Given the description of an element on the screen output the (x, y) to click on. 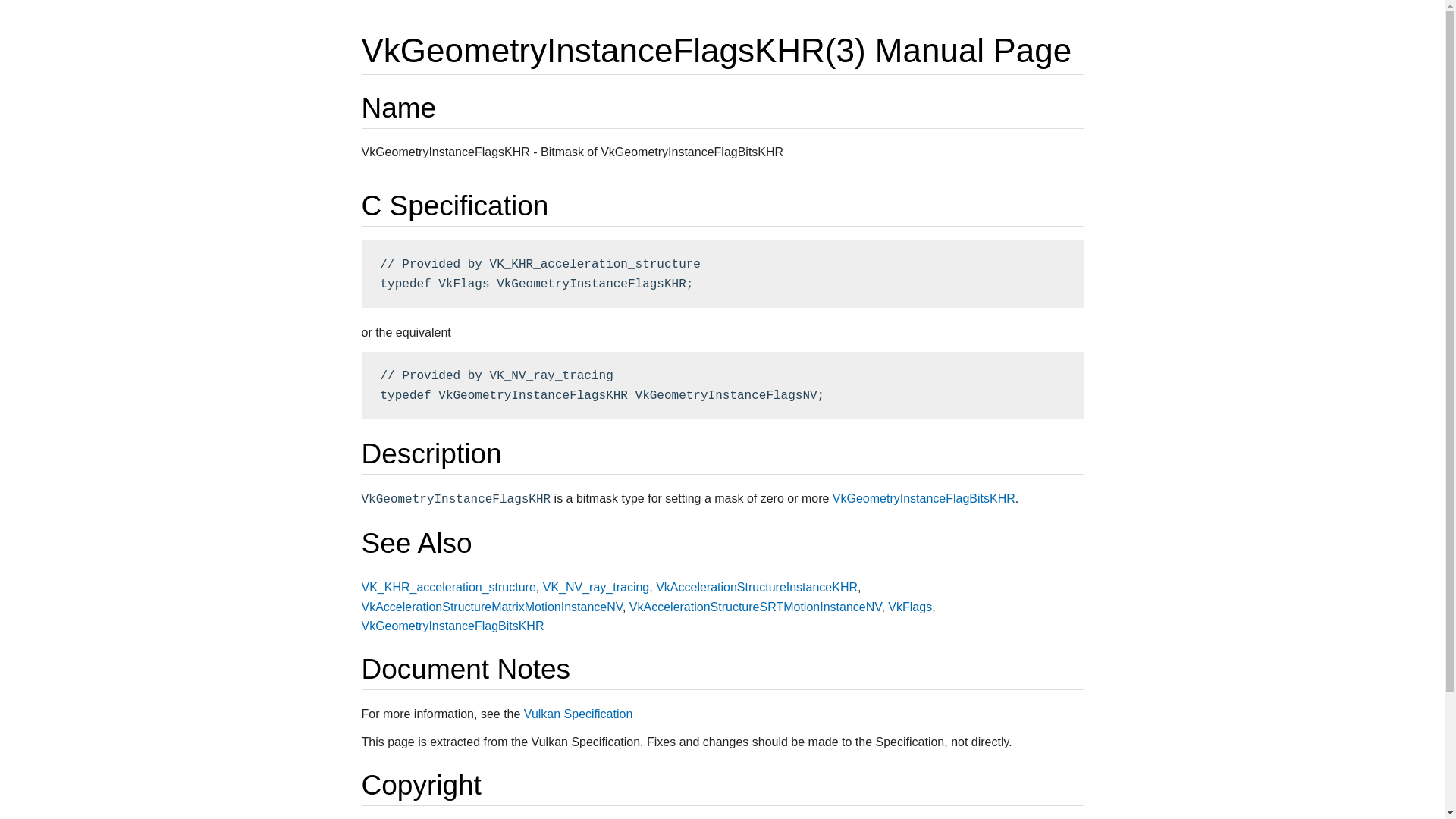
VkFlags (909, 606)
VkGeometryInstanceFlagBitsKHR (923, 498)
Vulkan Specification (578, 713)
VkAccelerationStructureSRTMotionInstanceNV (755, 606)
VkAccelerationStructureInstanceKHR (756, 586)
VkGeometryInstanceFlagBitsKHR (452, 625)
VkAccelerationStructureMatrixMotionInstanceNV (491, 606)
